Given the description of an element on the screen output the (x, y) to click on. 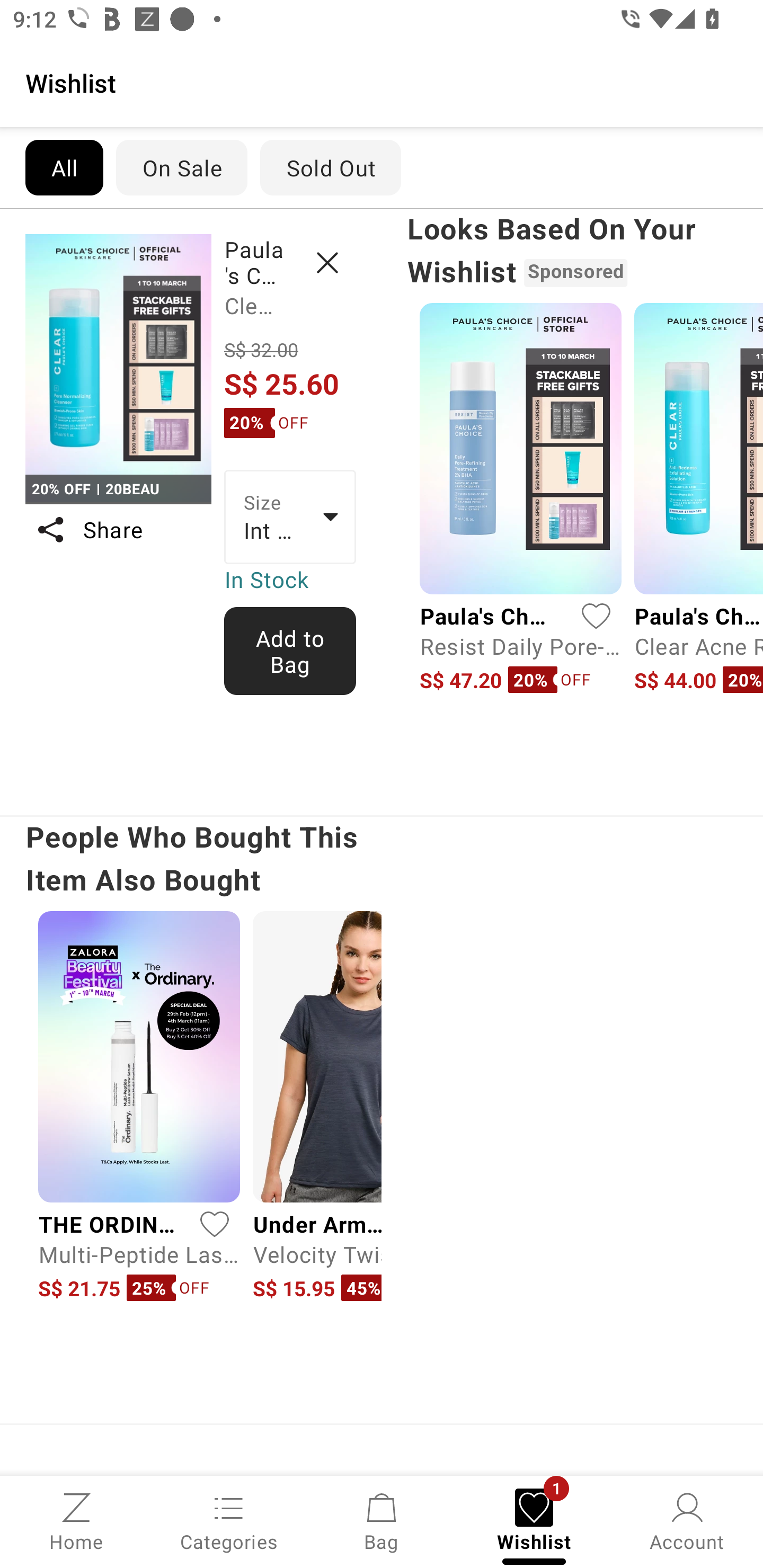
Wishlist (381, 82)
All (64, 167)
On Sale (181, 167)
Sold Out (330, 167)
Size Int 177 ml (290, 517)
Share (118, 529)
Add to Bag (290, 650)
Home (76, 1519)
Categories (228, 1519)
Bag (381, 1519)
Account (686, 1519)
